Given the description of an element on the screen output the (x, y) to click on. 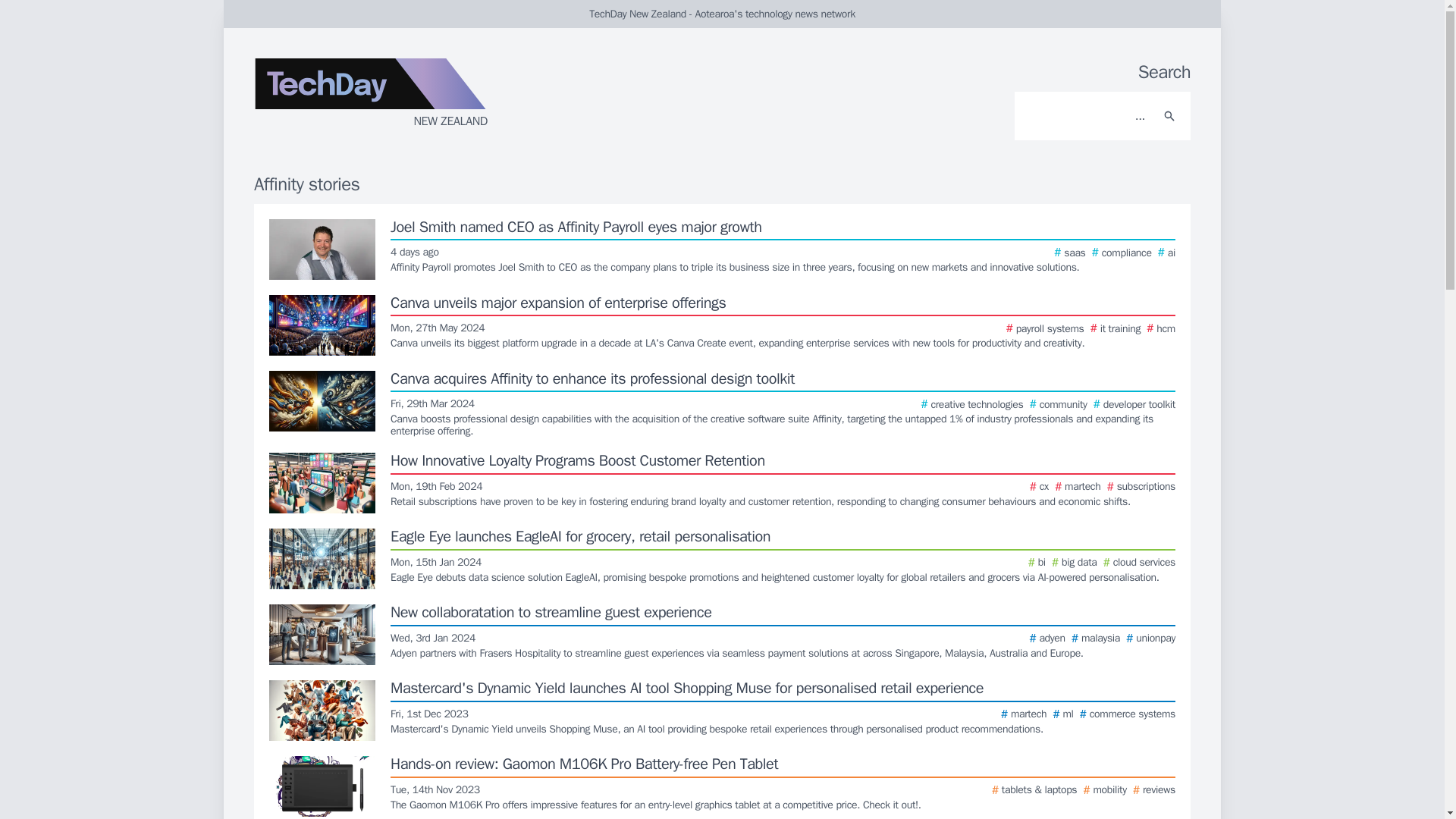
NEW ZEALAND (435, 99)
